Given the description of an element on the screen output the (x, y) to click on. 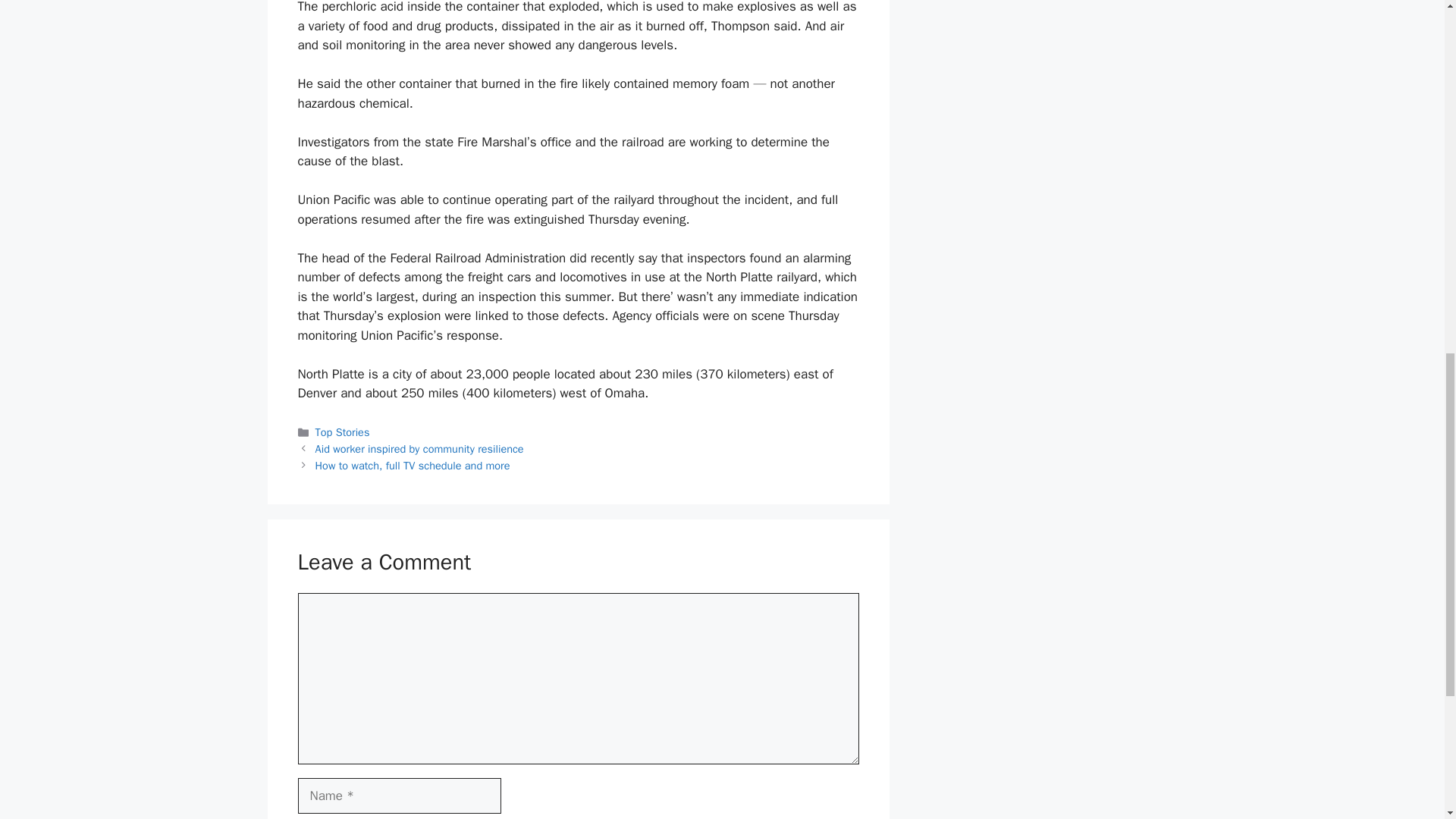
Aid worker inspired by community resilience (419, 448)
How to watch, full TV schedule and more (413, 465)
Scroll back to top (1406, 720)
Top Stories (342, 431)
